Given the description of an element on the screen output the (x, y) to click on. 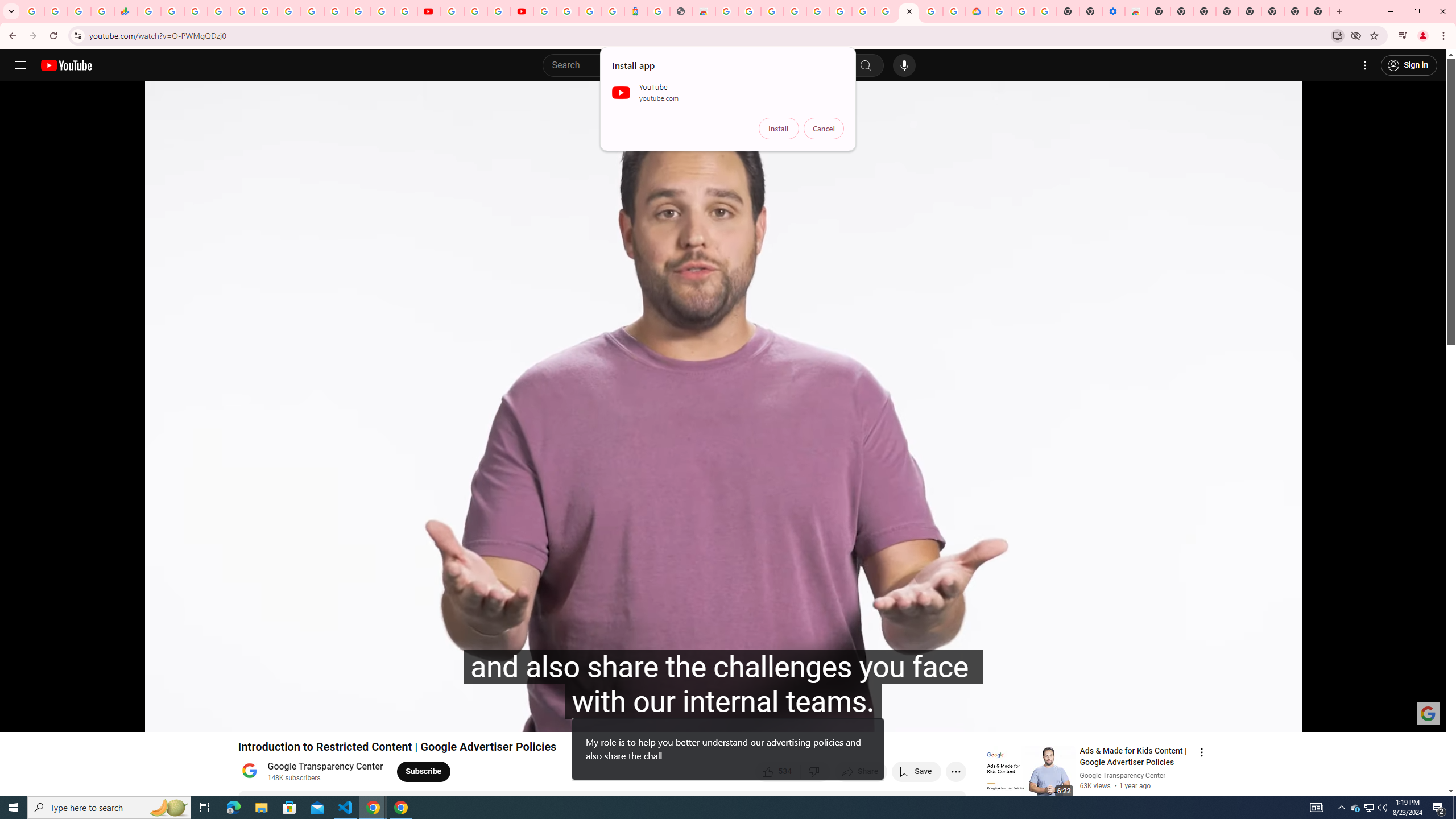
Content Creator Programs & Opportunities - YouTube Creators (521, 11)
Sign in - Google Accounts (567, 11)
Google Account Help (1022, 11)
Subtitles/closed captions unavailable (1316, 718)
Search with your voice (903, 65)
Subscribe to Google Transparency Center. (423, 771)
Turn cookies on or off - Computer - Google Account Help (1045, 11)
Google Workspace Admin Community (32, 11)
New Tab (1158, 11)
Play (k) (20, 718)
